Given the description of an element on the screen output the (x, y) to click on. 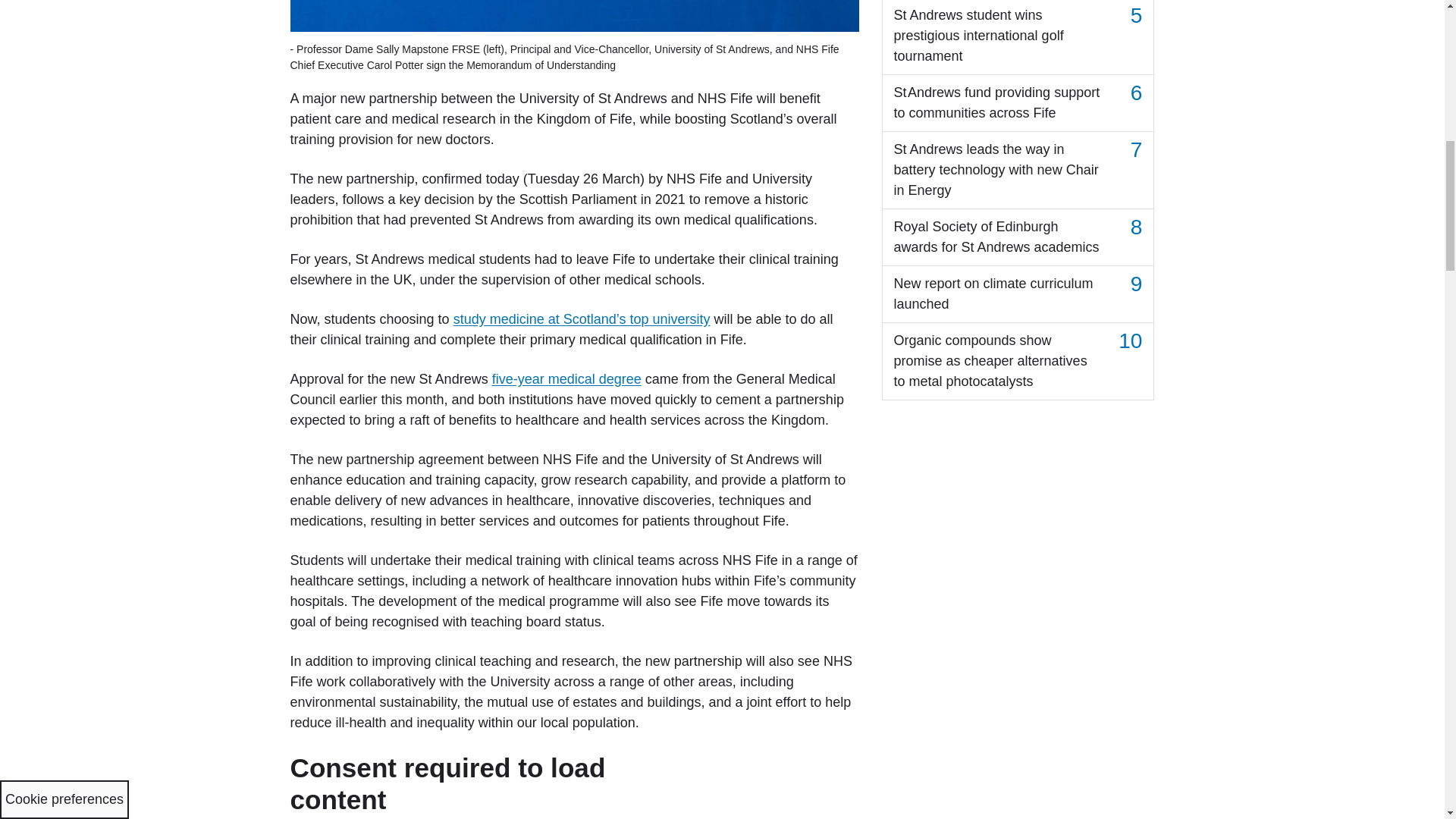
five-year medical degree (567, 378)
